Given the description of an element on the screen output the (x, y) to click on. 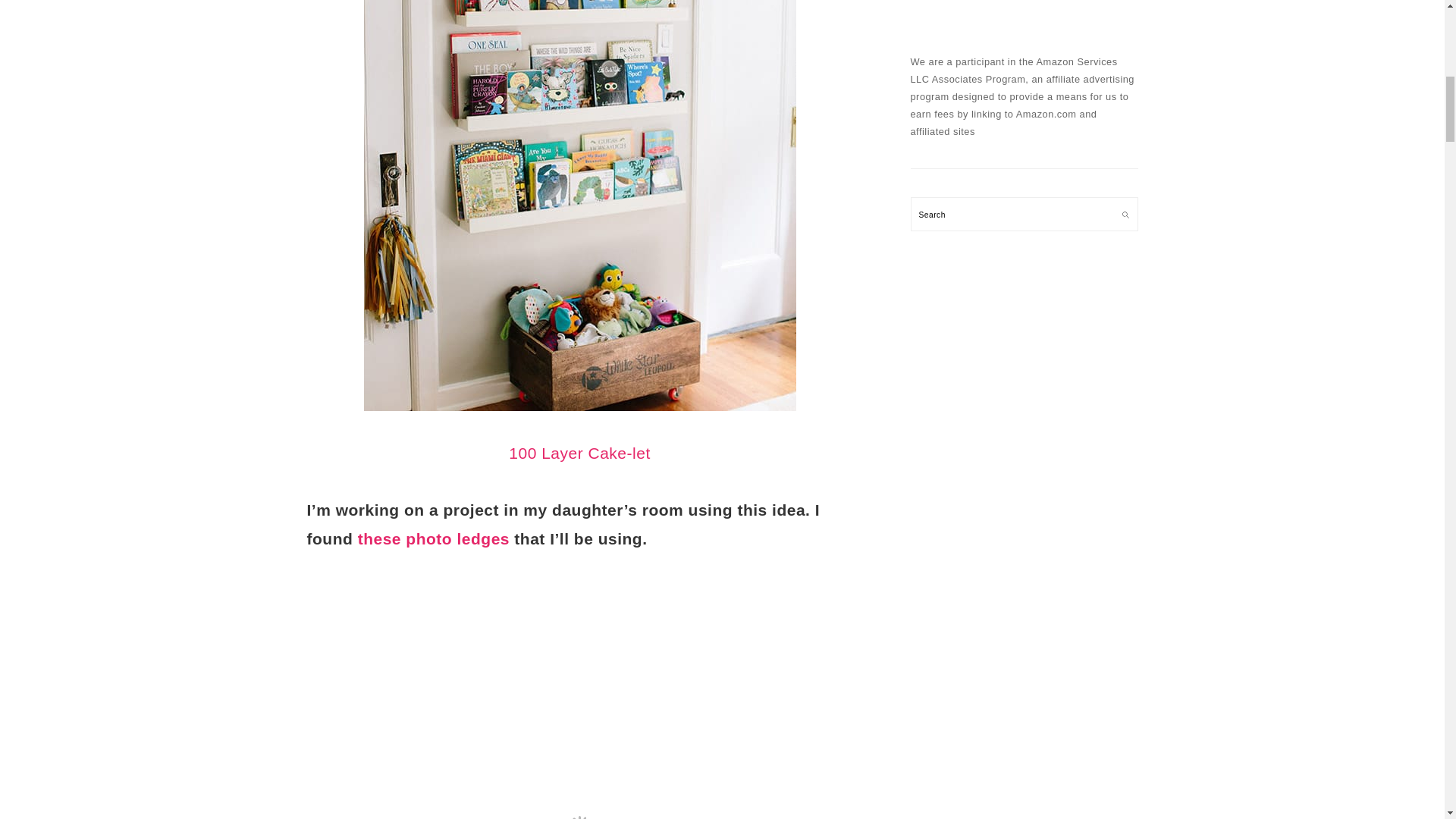
100 Layer Cake-let (578, 452)
these photo ledges (433, 538)
